Given the description of an element on the screen output the (x, y) to click on. 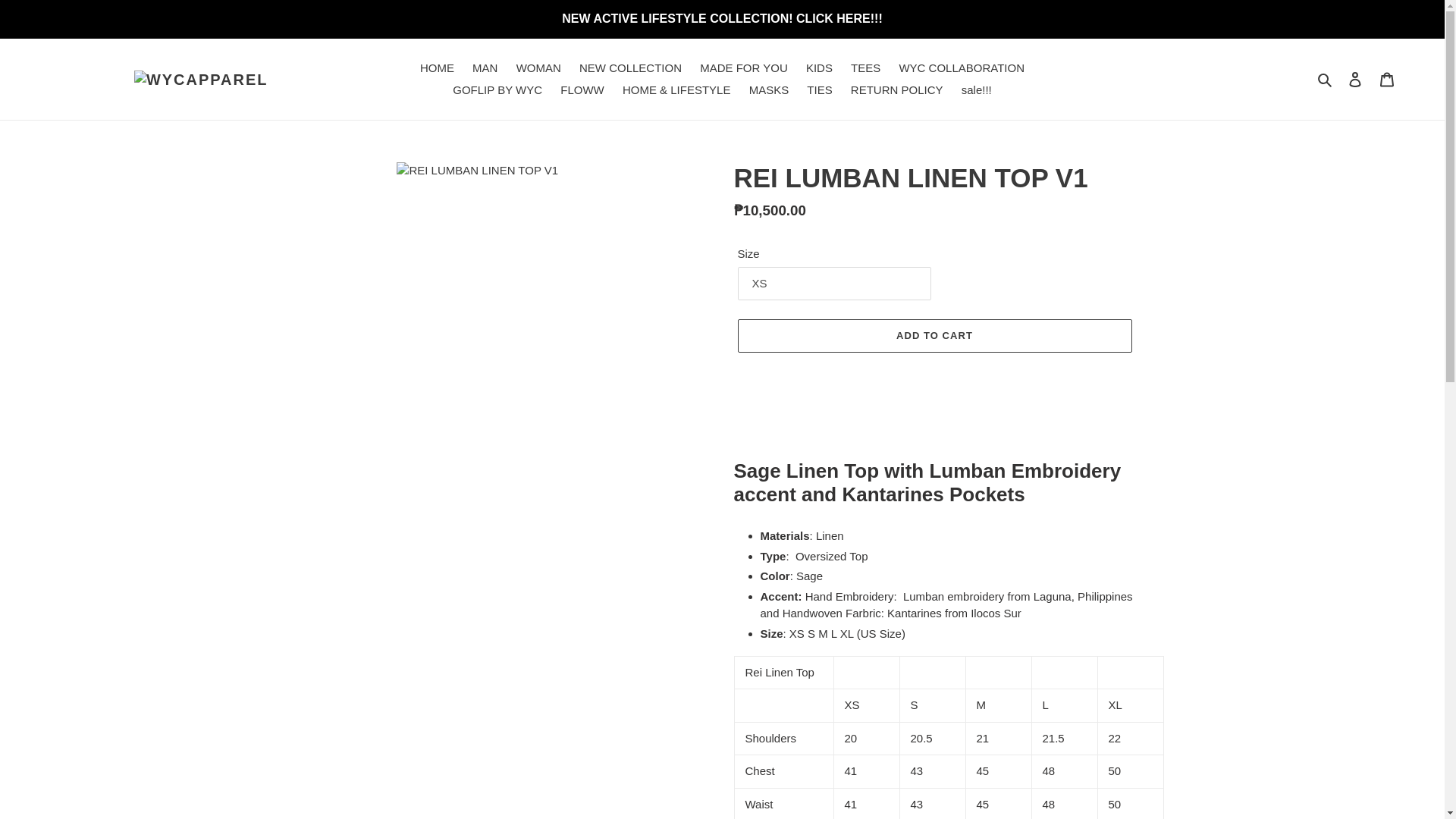
FLOWW (582, 89)
NEW COLLECTION (630, 68)
TEES (865, 68)
sale!!! (975, 89)
KIDS (818, 68)
MAN (484, 68)
WYC COLLABORATION (961, 68)
Cart (1387, 79)
NEW ACTIVE LIFESTYLE COLLECTION! CLICK HERE!!! (721, 18)
MADE FOR YOU (743, 68)
